Given the description of an element on the screen output the (x, y) to click on. 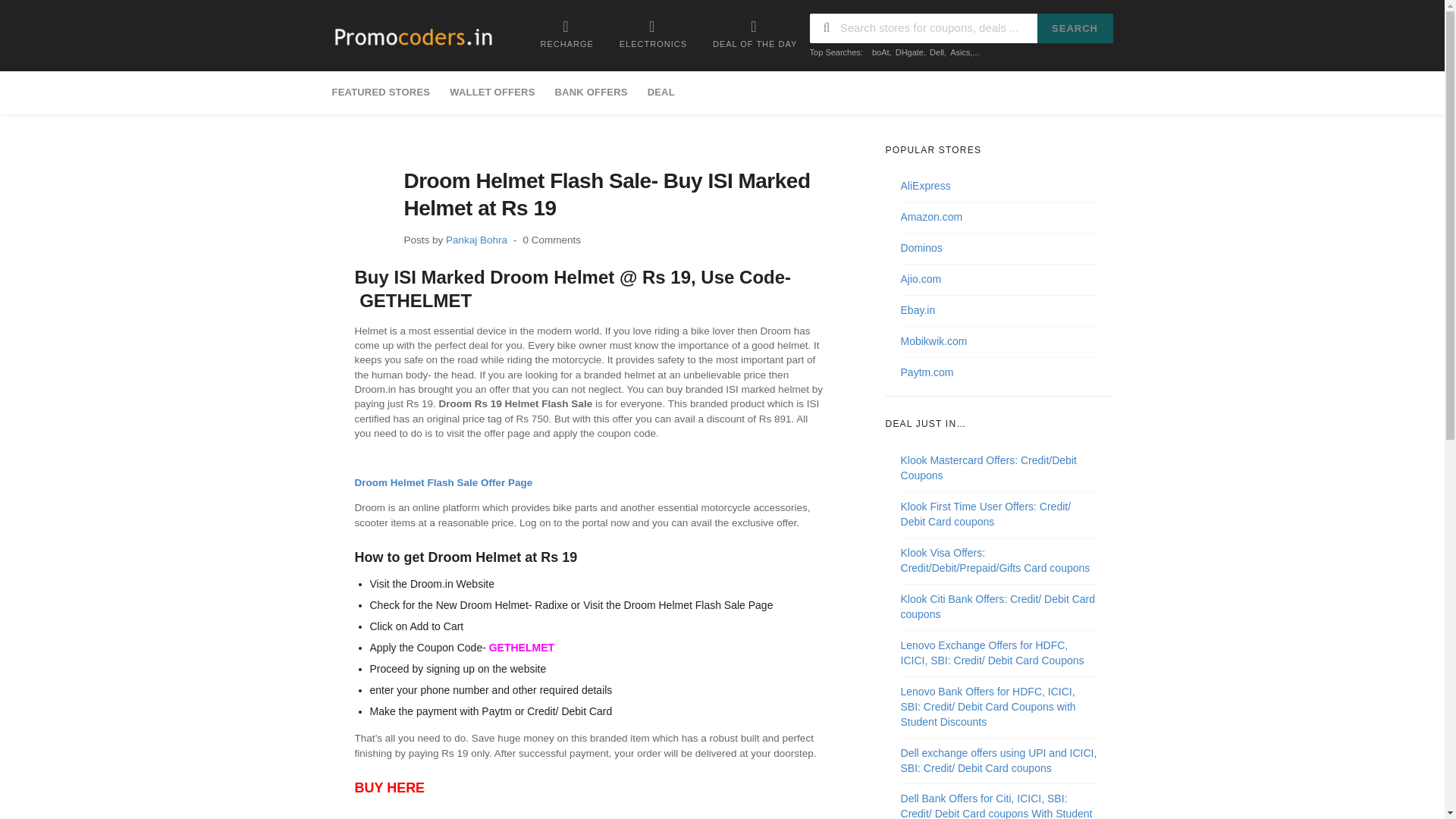
Mobikwik.com (934, 340)
DEAL (660, 92)
Promo Code (413, 37)
Droom Helmet Flash Sale Offer Page (443, 482)
ELECTRONICS (653, 33)
BUY HERE (390, 787)
WALLET OFFERS (491, 92)
SEARCH (1074, 28)
Dominos (921, 247)
boAt (880, 51)
